Given the description of an element on the screen output the (x, y) to click on. 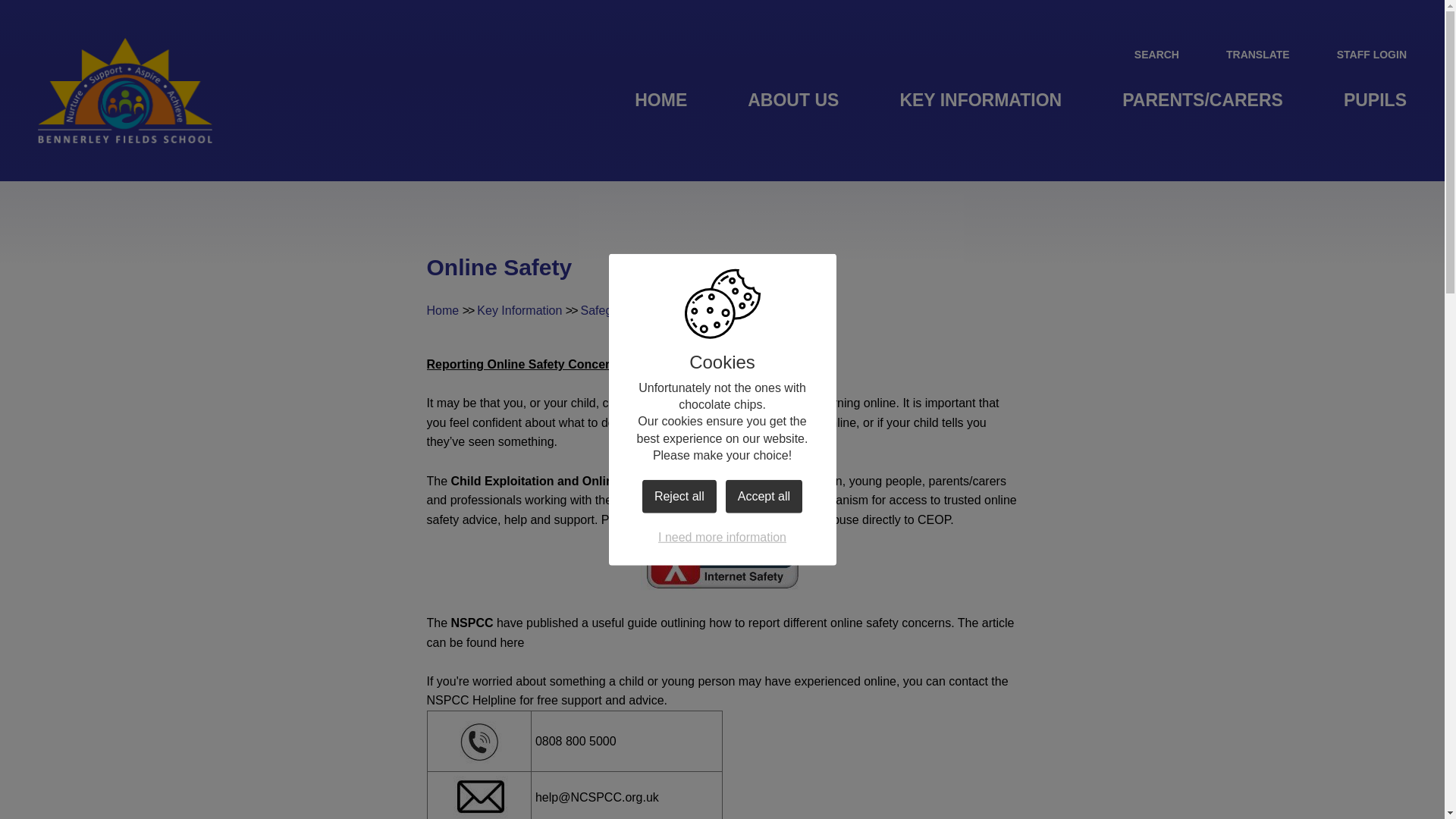
KEY INFORMATION (979, 100)
HOME (660, 100)
ABOUT US (792, 100)
TRANSLATE (1245, 54)
STAFF LOGIN (1358, 54)
Home Page (124, 90)
SEARCH (1144, 54)
